Given the description of an element on the screen output the (x, y) to click on. 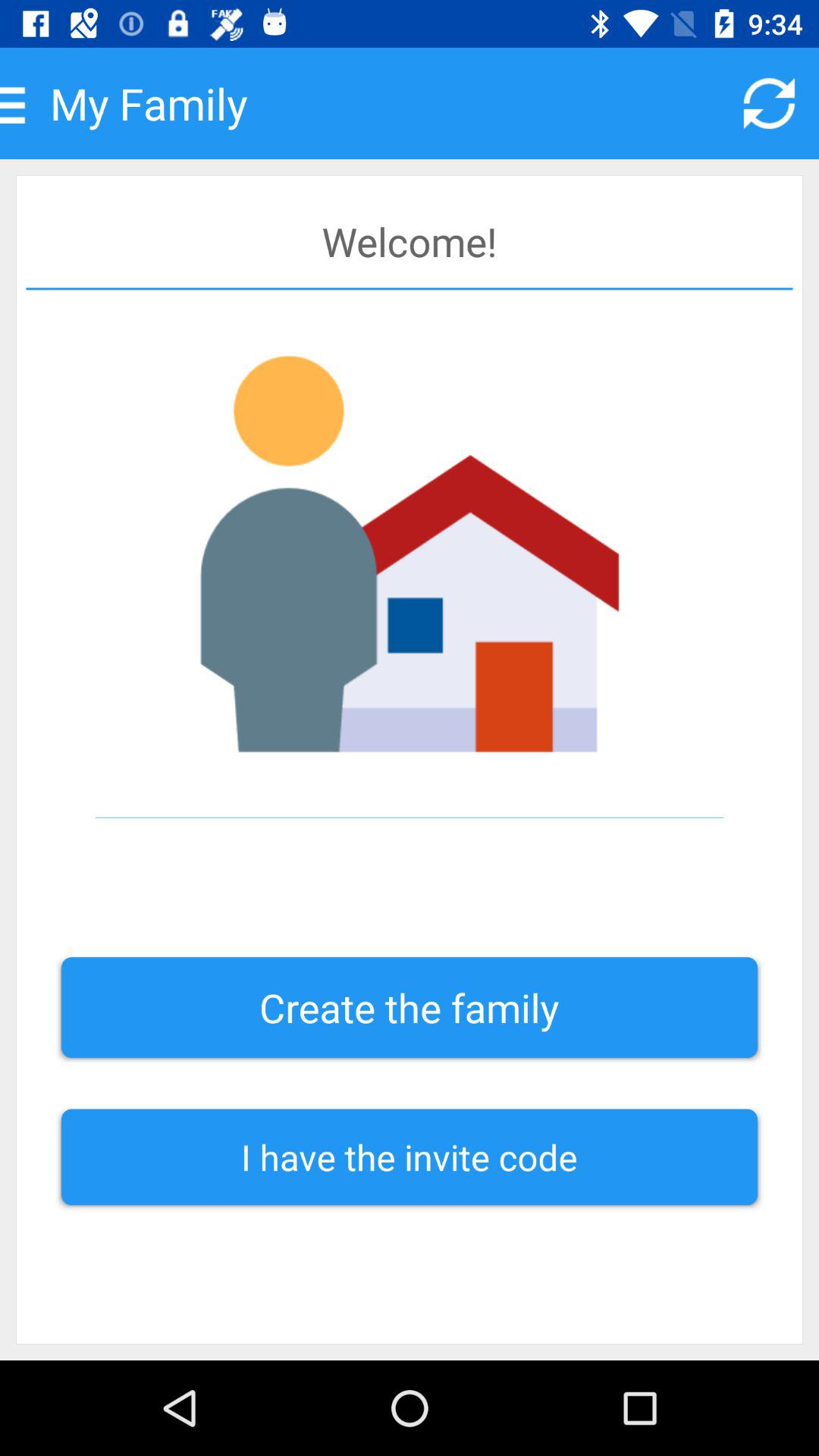
tap the icon above welcome! icon (769, 103)
